Given the description of an element on the screen output the (x, y) to click on. 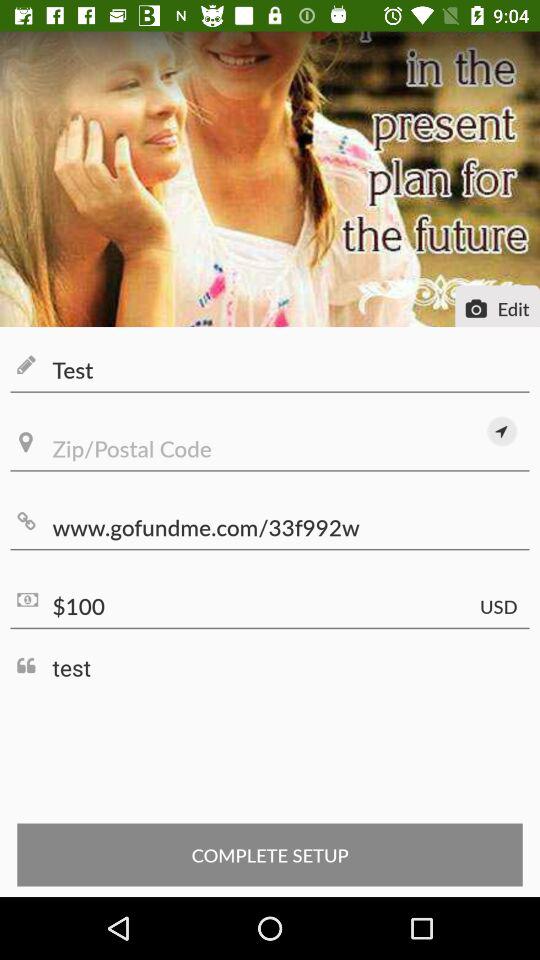
open item below the test (502, 431)
